Given the description of an element on the screen output the (x, y) to click on. 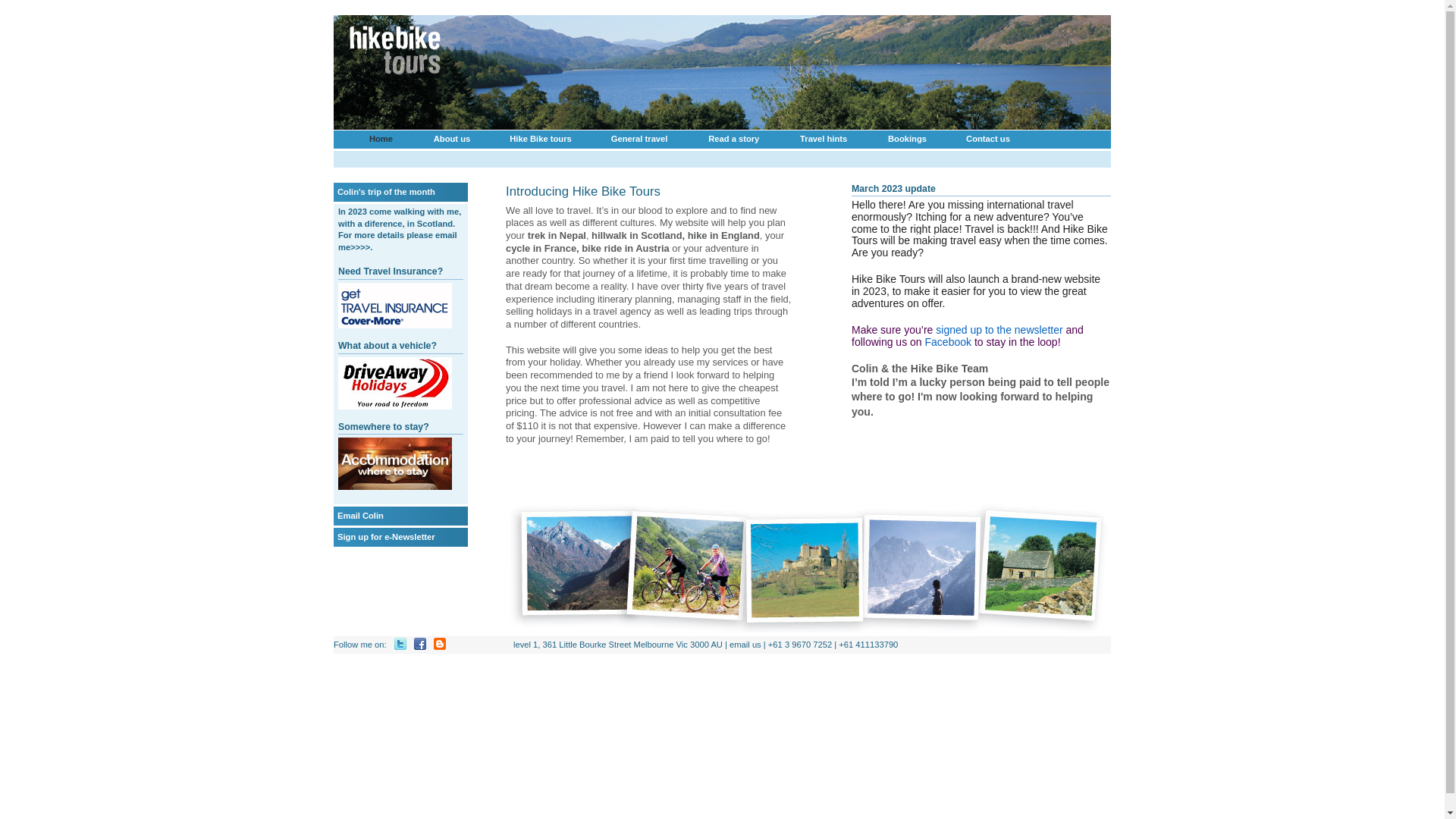
signed up to the newsletter Element type: text (998, 329)
email us Element type: text (745, 644)
Travel hints Element type: text (823, 138)
Email Colin Element type: text (360, 515)
Contact us Element type: text (987, 138)
General travel Element type: text (638, 138)
Home Element type: text (380, 138)
email me Element type: text (397, 240)
Read a story Element type: text (733, 138)
Sign up for e-Newsletter Element type: text (386, 536)
Facebook Element type: text (948, 341)
